Given the description of an element on the screen output the (x, y) to click on. 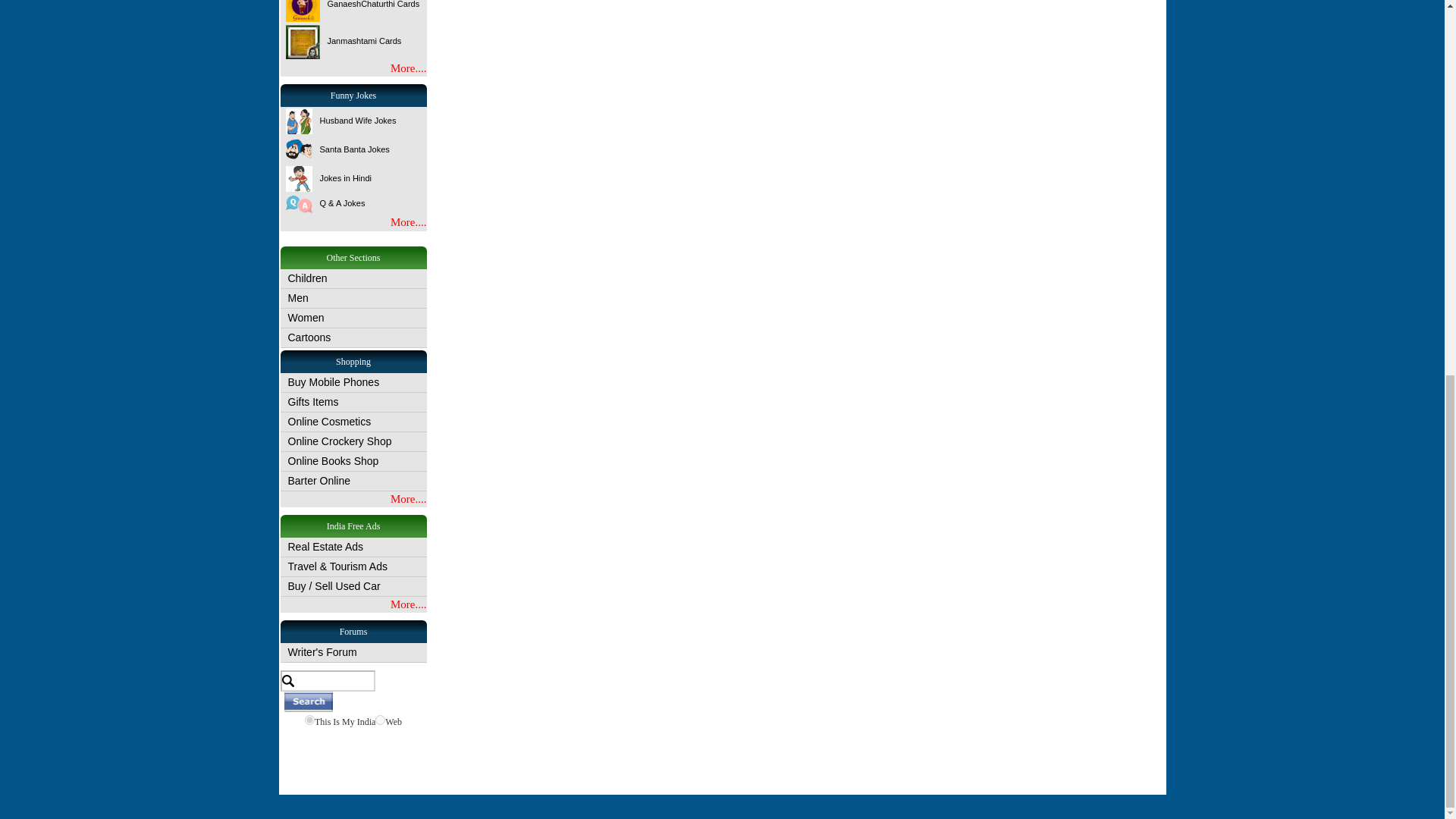
thisismyindia.com (309, 719)
